Given the description of an element on the screen output the (x, y) to click on. 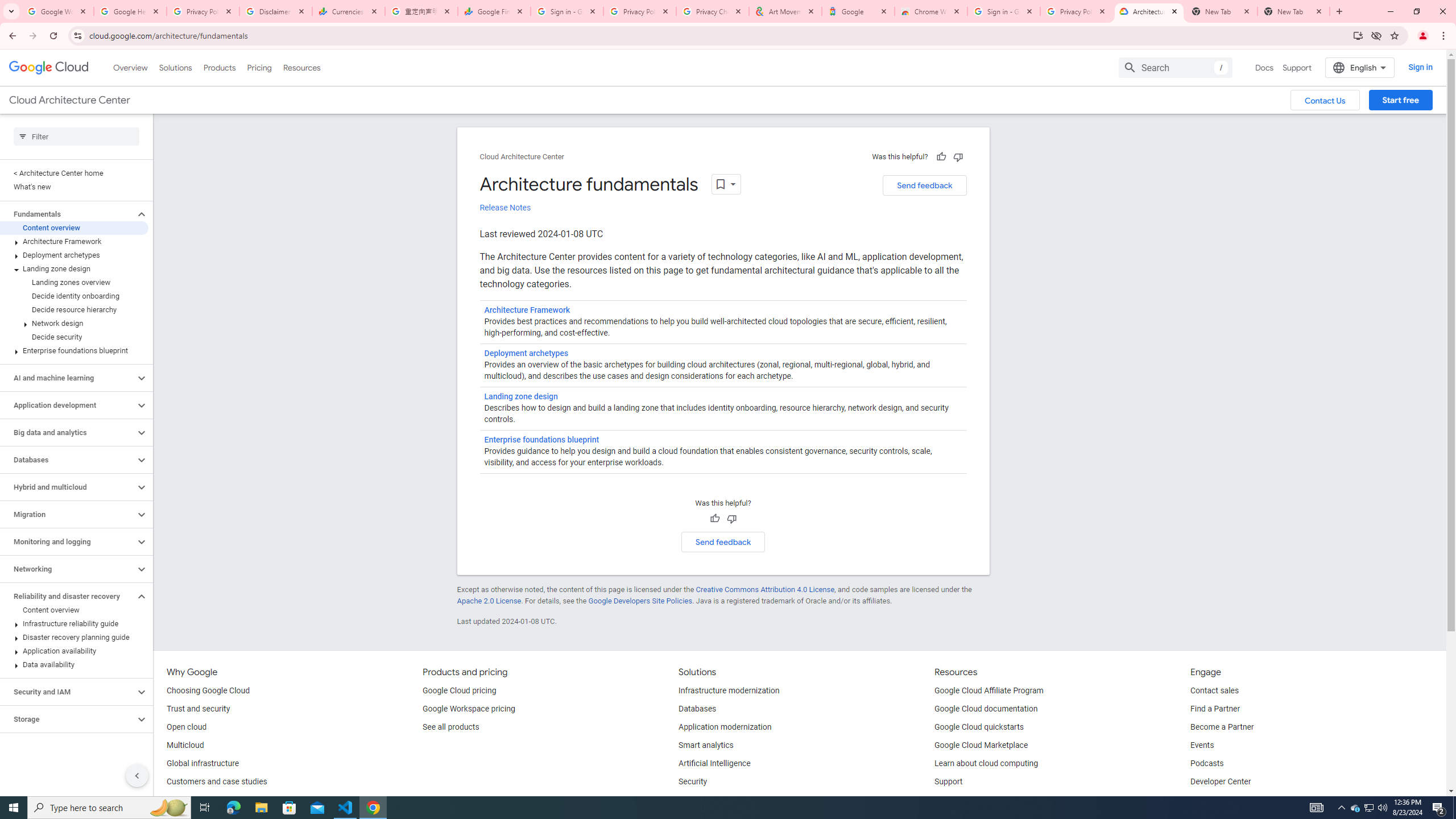
What's new (74, 187)
Resources (301, 67)
Events (1202, 745)
Code samples (959, 800)
Google Cloud documentation (986, 709)
AI and machine learning (67, 377)
Content overview (74, 609)
Decide security (74, 336)
Start free (1400, 100)
